Given the description of an element on the screen output the (x, y) to click on. 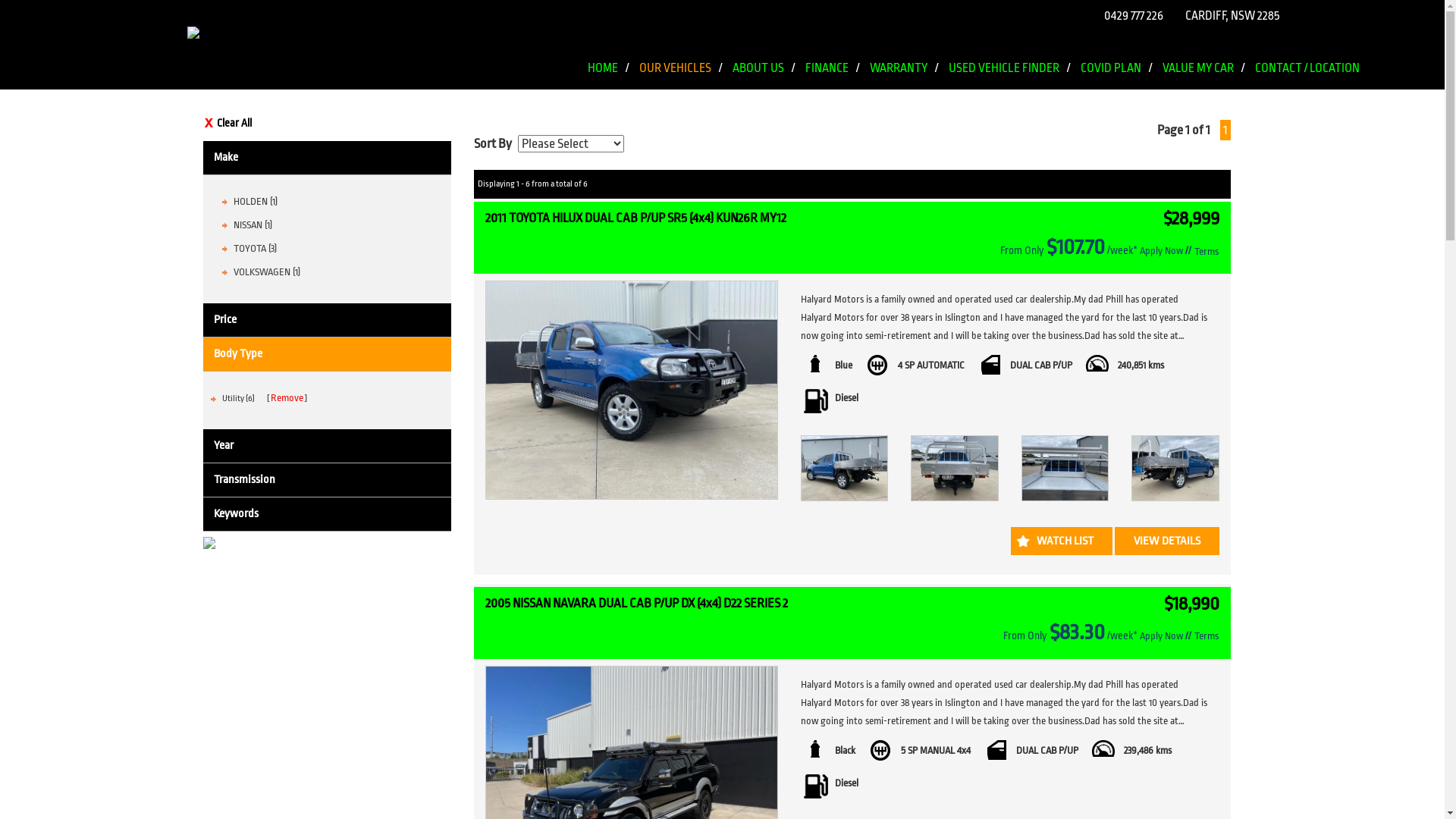
2011-TOYOTA-HILUX Element type: hover (844, 468)
2005 NISSAN NAVARA DUAL CAB P/UP DX (4x4) D22 SERIES 2 Element type: text (636, 603)
1 Element type: text (1224, 129)
Terms Element type: text (1205, 635)
VALUE MY CAR Element type: text (1202, 54)
COVID PLAN Element type: text (1115, 54)
2011-TOYOTA-HILUX Element type: hover (631, 389)
VOLKSWAGEN (1) Element type: text (266, 271)
HOLDEN (1) Element type: text (255, 201)
TOYOTA (3) Element type: text (254, 248)
$28,999 Element type: text (1191, 218)
Clear All Element type: text (327, 122)
2011-TOYOTA-HILUX Element type: hover (953, 468)
Terms Element type: text (1206, 251)
VIEW DETAILS Element type: text (1166, 541)
Apply Now Element type: text (1160, 250)
WARRANTY Element type: text (903, 54)
2011 TOYOTA HILUX DUAL CAB P/UP SR5 (4x4) KUN26R MY12 Element type: text (635, 217)
$18,990 Element type: text (1190, 603)
NISSAN (1) Element type: text (252, 224)
Terms Element type: text (1206, 635)
Apply Now Element type: text (1160, 635)
CARDIFF, NSW 2285 Element type: text (1229, 14)
2011-TOYOTA-HILUX Element type: hover (1064, 468)
OUR VEHICLES Element type: text (679, 54)
ABOUT US Element type: text (763, 54)
Halyard Motor Wholesalers Element type: hover (721, 36)
Remove Element type: text (285, 397)
USED VEHICLE FINDER Element type: text (1008, 54)
WATCH LIST Element type: text (1060, 541)
HOME Element type: text (606, 54)
2011-TOYOTA-HILUX Element type: hover (1174, 468)
CONTACT / LOCATION Element type: text (1306, 54)
0429 777 226 Element type: text (1129, 15)
Terms Element type: text (1205, 251)
FINANCE Element type: text (832, 54)
